Given the description of an element on the screen output the (x, y) to click on. 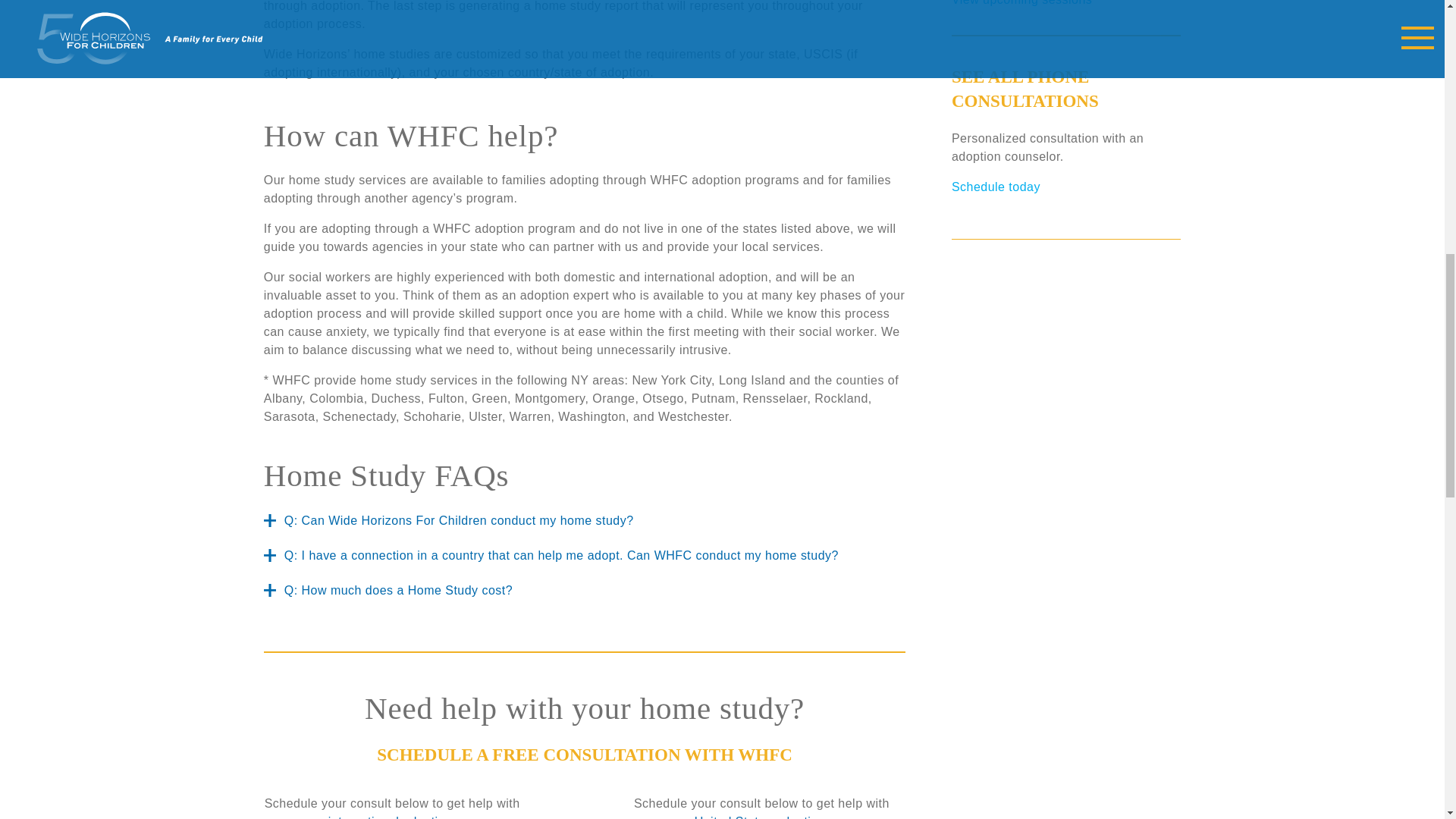
View upcoming sessions (1022, 2)
Schedule today (996, 186)
